Given the description of an element on the screen output the (x, y) to click on. 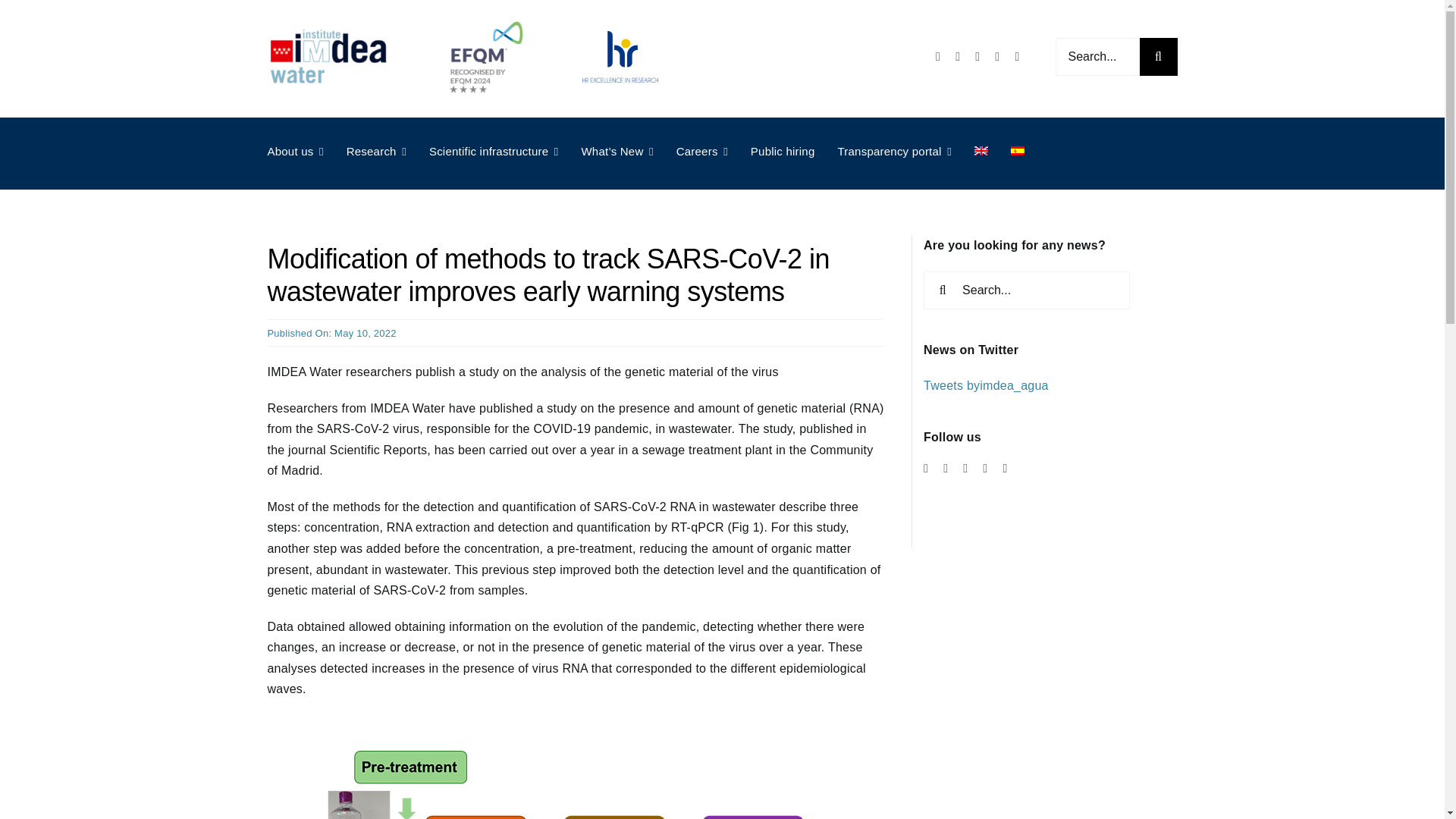
Scientific infrastructure (494, 151)
Research (376, 151)
About us (294, 151)
